Given the description of an element on the screen output the (x, y) to click on. 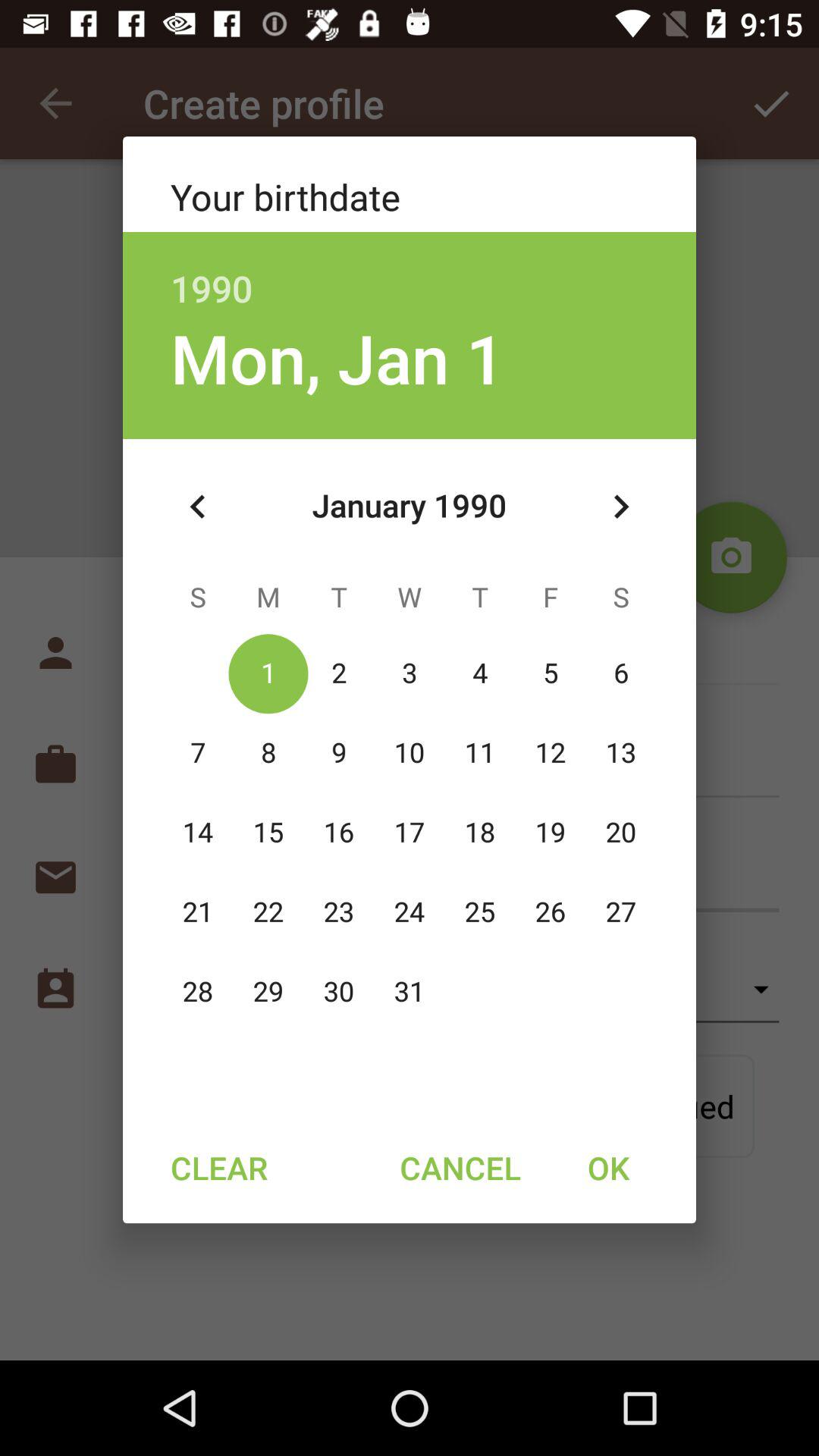
open the icon below mon, jan 1 icon (197, 506)
